Given the description of an element on the screen output the (x, y) to click on. 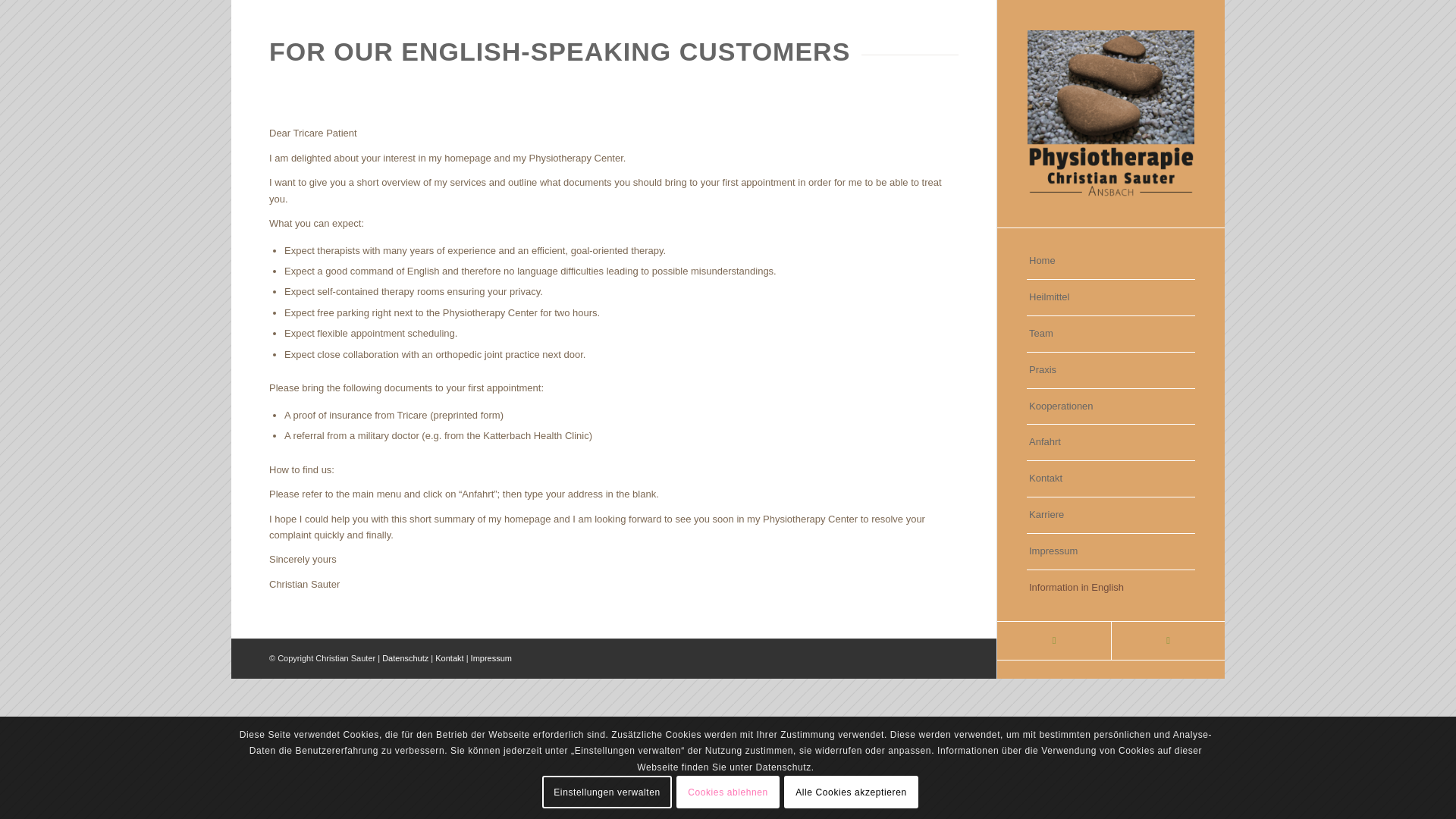
Impressum (491, 657)
Datenschutz (404, 657)
Kontakt (449, 657)
